Given the description of an element on the screen output the (x, y) to click on. 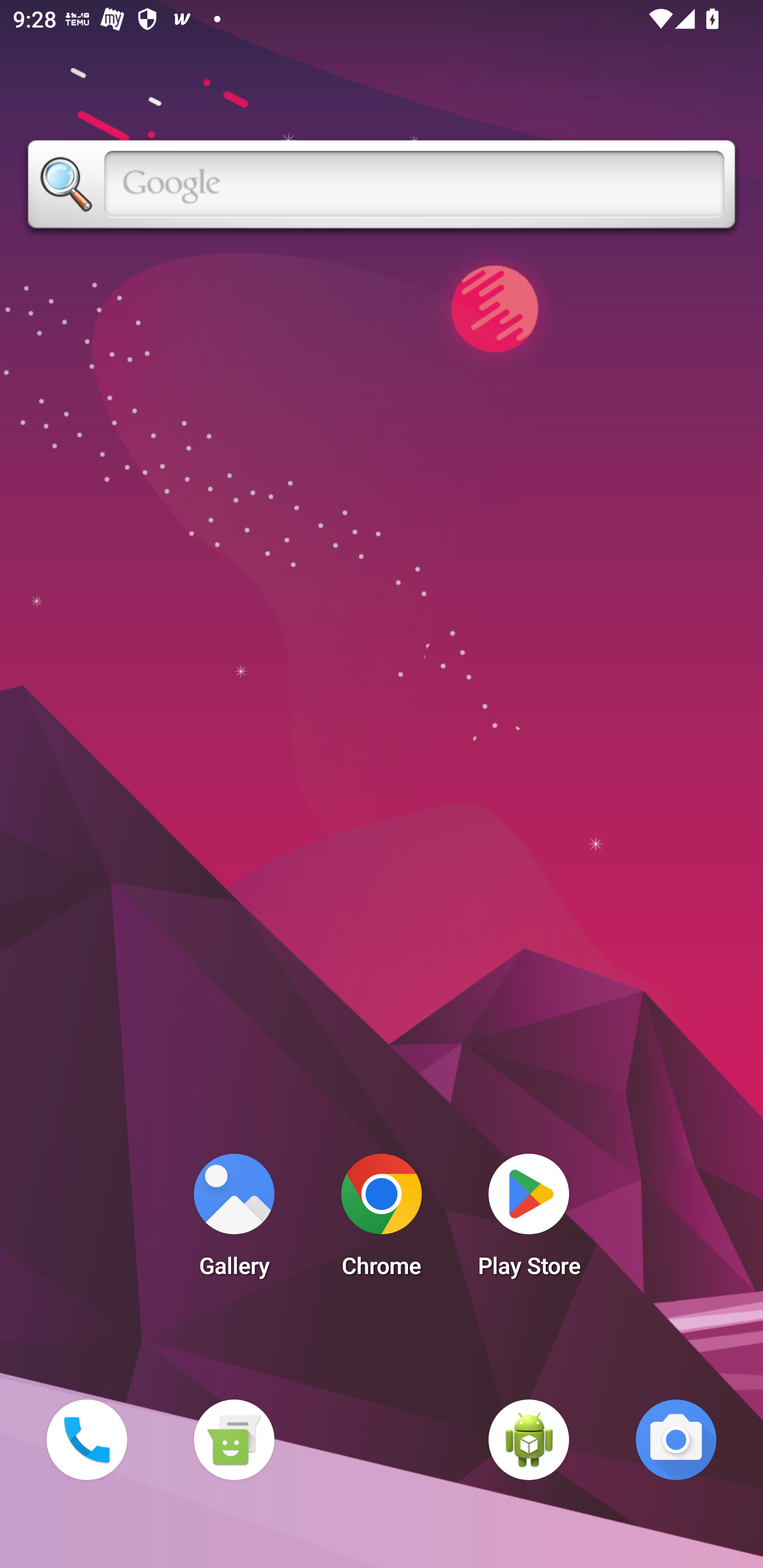
Gallery (233, 1220)
Chrome (381, 1220)
Play Store (528, 1220)
Phone (86, 1439)
Messaging (233, 1439)
WebView Browser Tester (528, 1439)
Camera (676, 1439)
